Given the description of an element on the screen output the (x, y) to click on. 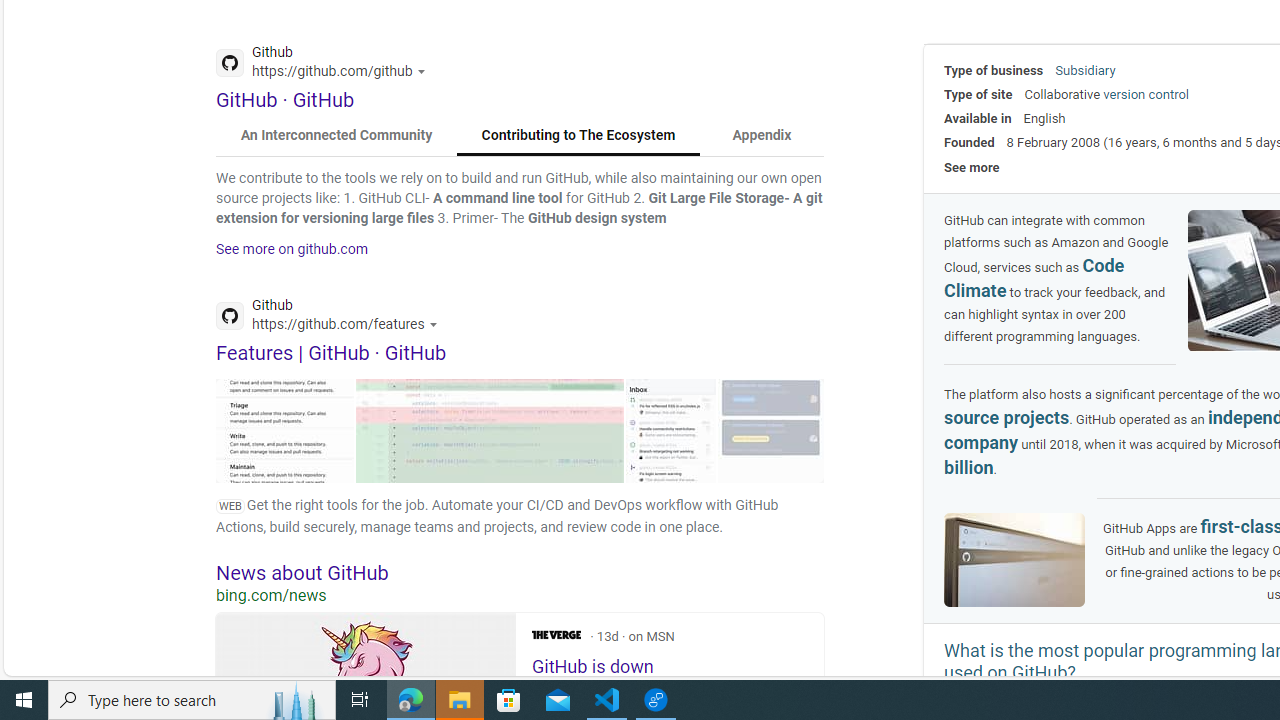
Contributing to The Ecosystem (578, 135)
Actions for this site (435, 324)
version control (1146, 94)
Global web icon (229, 316)
bing.com/news (520, 595)
Founded (969, 142)
Type of business (994, 70)
Subsidiary (1085, 70)
Github (332, 317)
Image of GitHub (1014, 559)
